Given the description of an element on the screen output the (x, y) to click on. 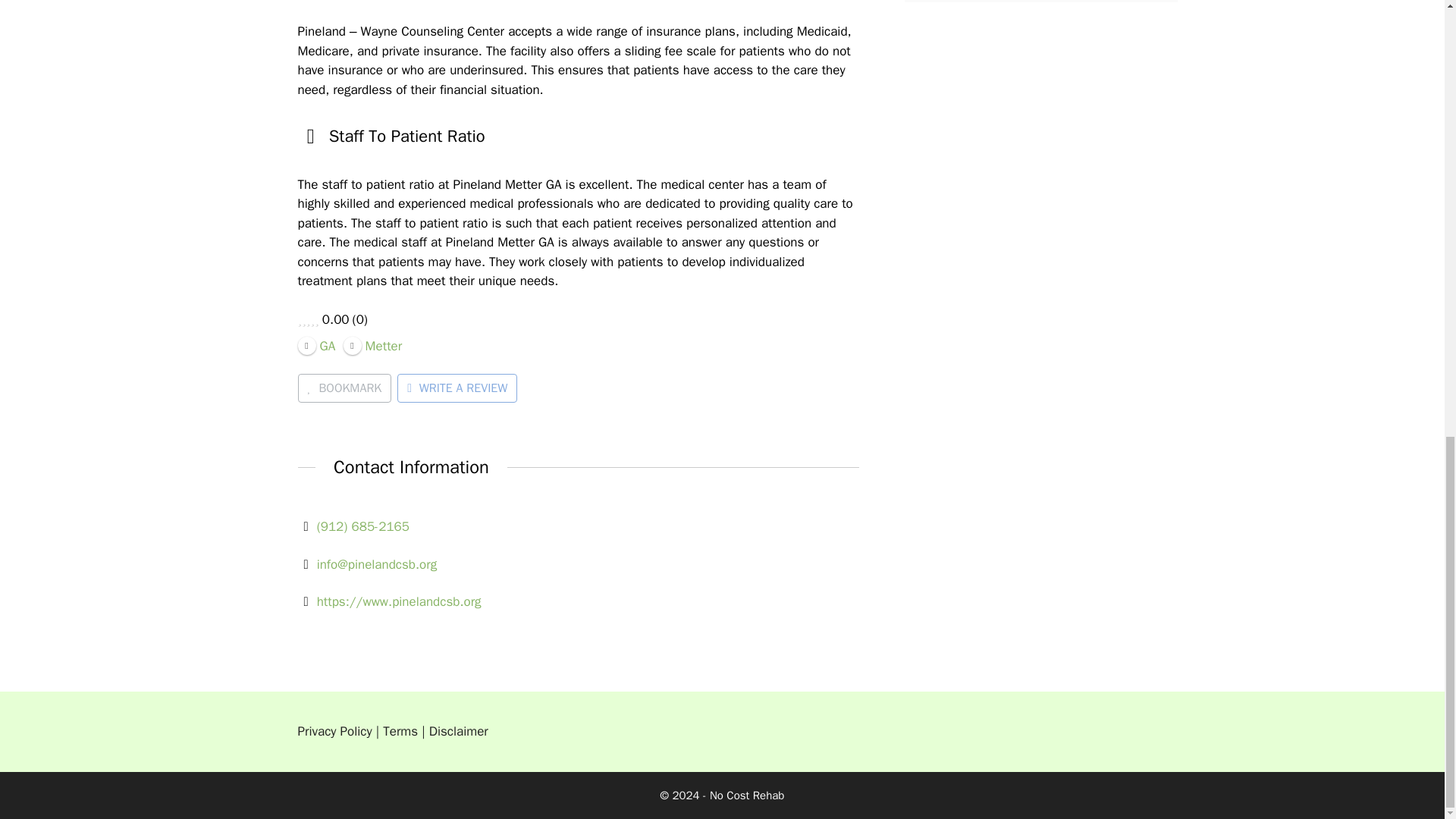
Metter (373, 344)
GA (315, 344)
